Given the description of an element on the screen output the (x, y) to click on. 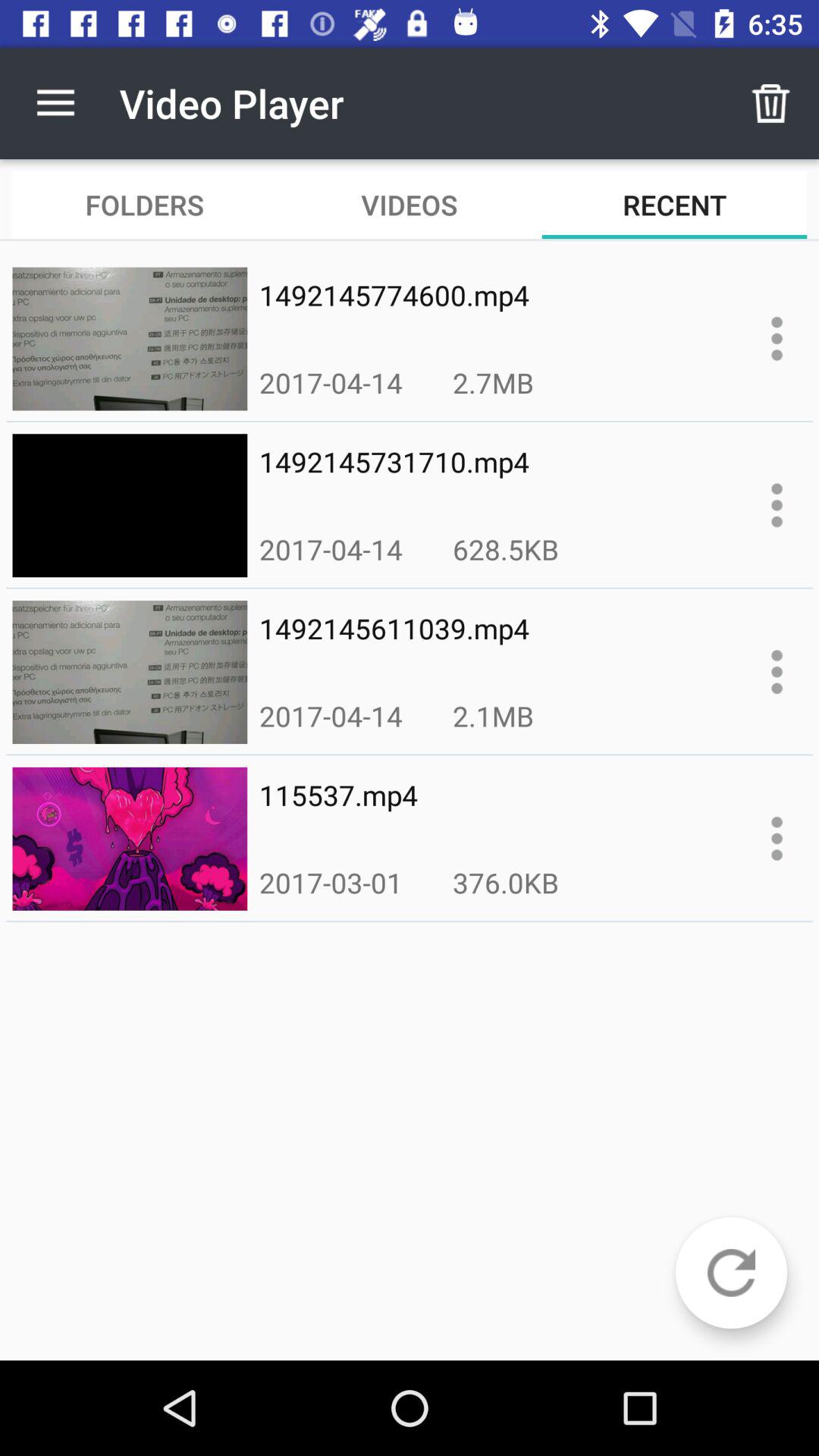
turn on 628.5kb icon (505, 549)
